Given the description of an element on the screen output the (x, y) to click on. 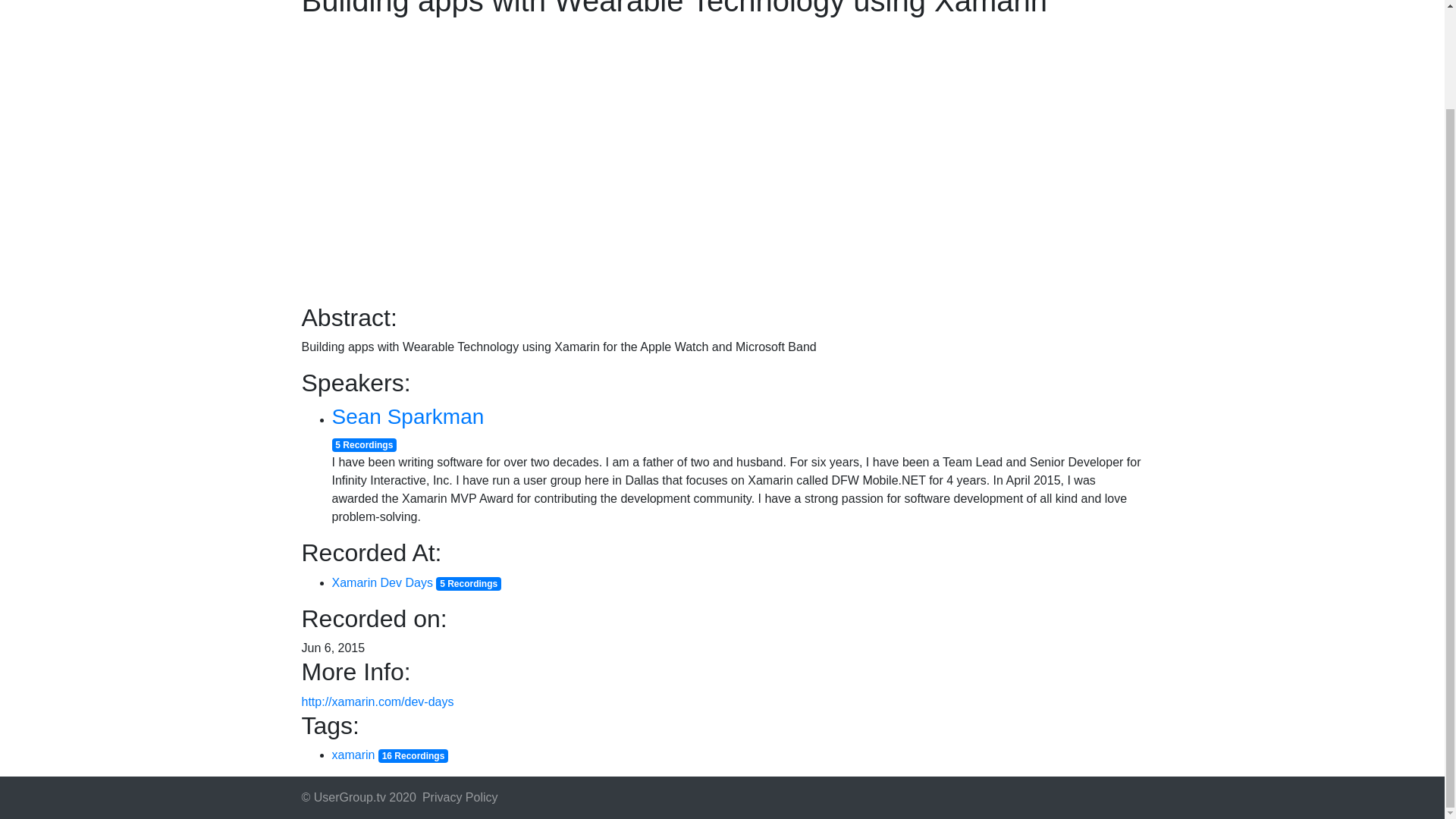
xamarin (353, 754)
Xamarin Dev Days (381, 582)
Sean Sparkman (407, 416)
Privacy Policy (459, 797)
